Given the description of an element on the screen output the (x, y) to click on. 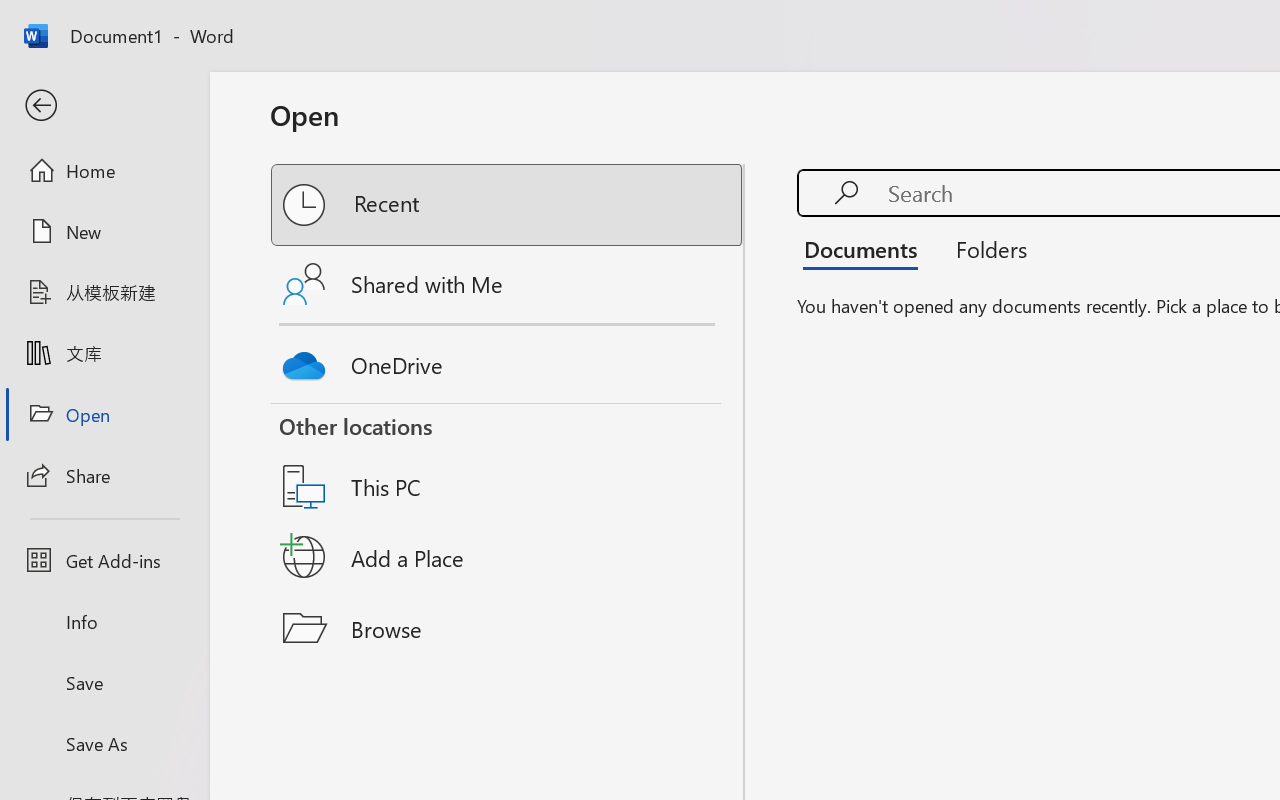
Save As (104, 743)
Documents (866, 248)
Get Add-ins (104, 560)
This PC (507, 461)
